Given the description of an element on the screen output the (x, y) to click on. 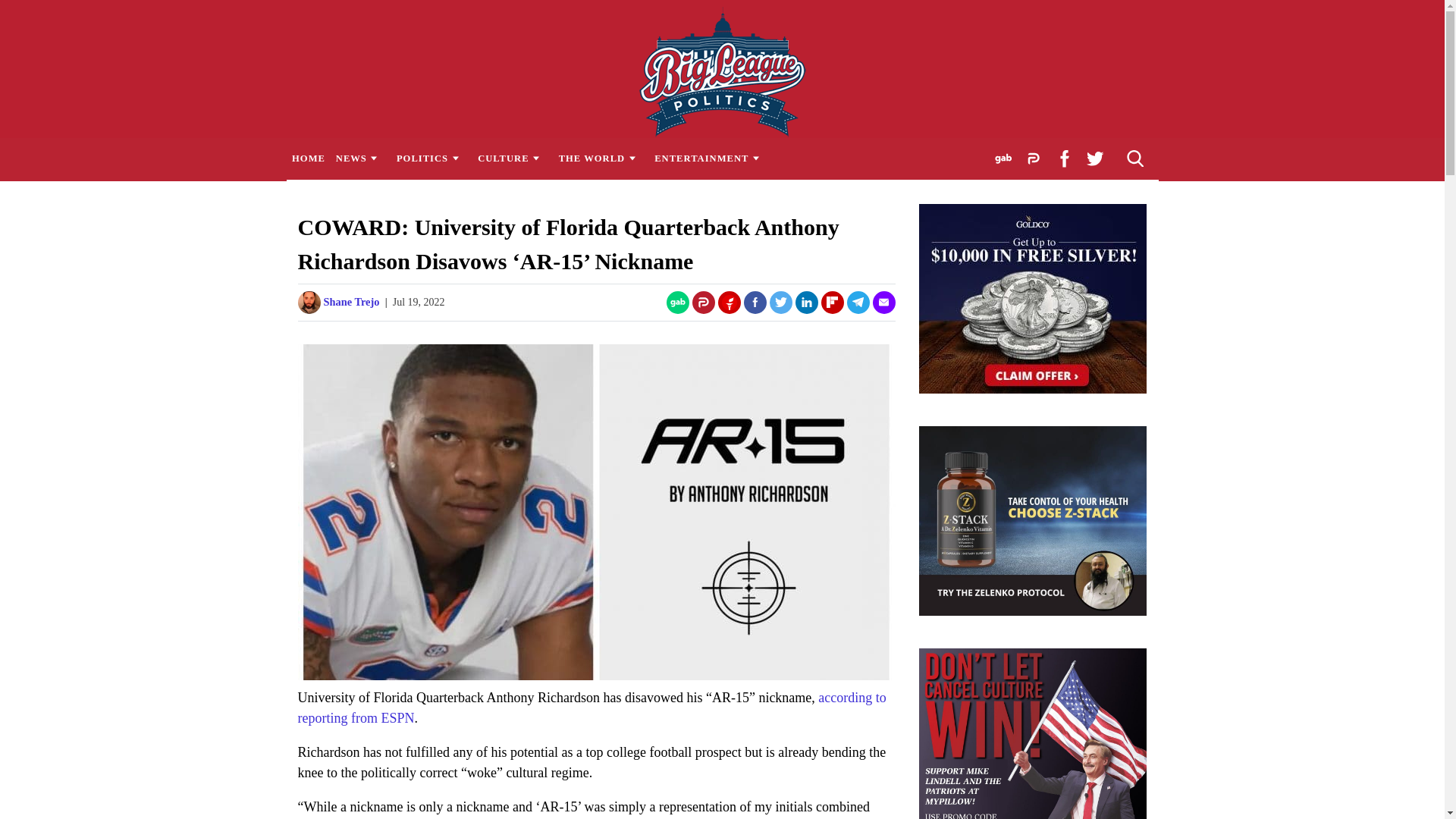
Posts by Shane Trejo (350, 302)
THE WORLD (601, 158)
NEWS (360, 158)
POLITICS (430, 158)
ENTERTAINMENT (711, 158)
CULTURE (512, 158)
HOME (308, 158)
